Given the description of an element on the screen output the (x, y) to click on. 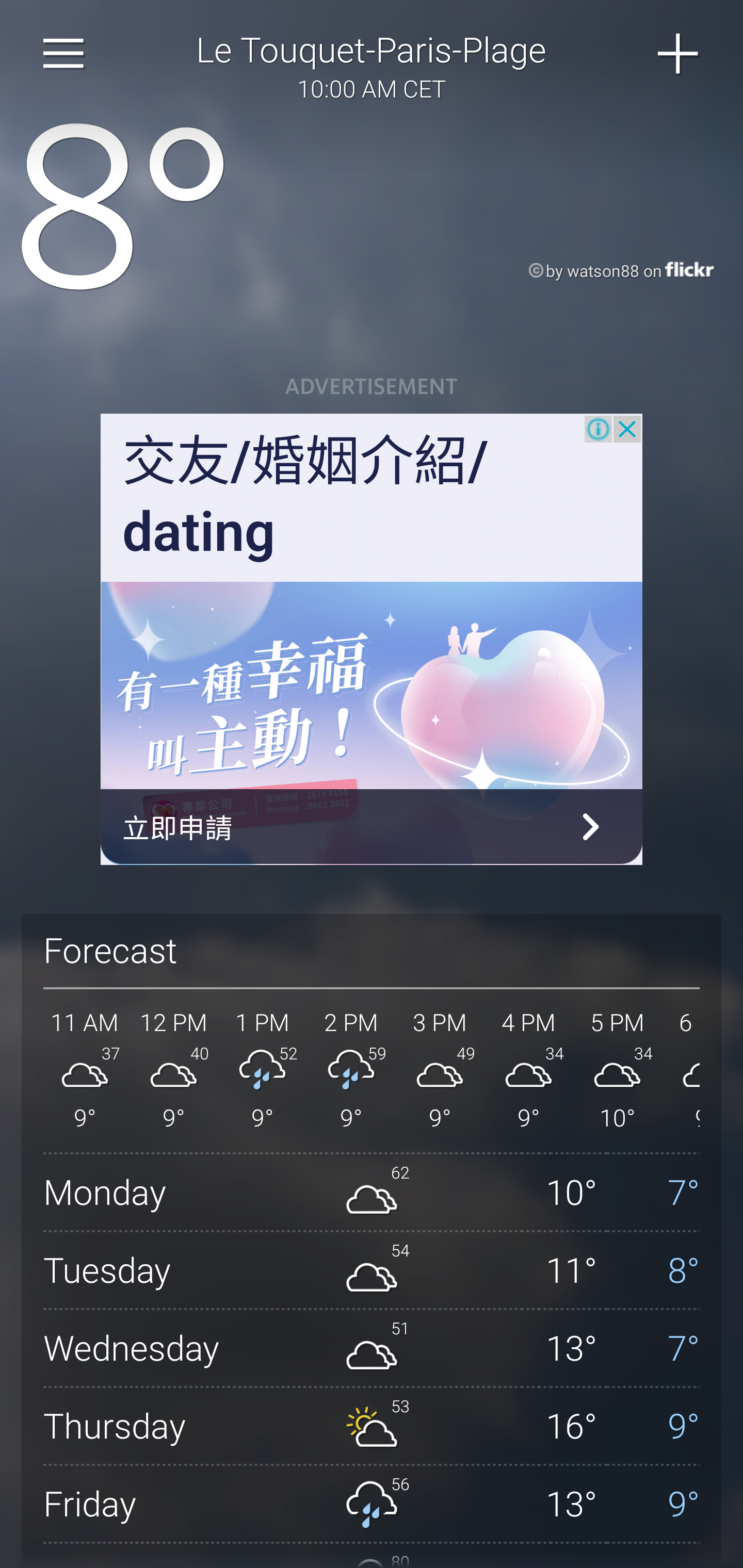
Sidebar (64, 54)
Add City (678, 53)
交友/婚姻介紹/ dating 交友/婚姻介紹/ 
 dating (305, 497)
立即申請 (371, 826)
